Given the description of an element on the screen output the (x, y) to click on. 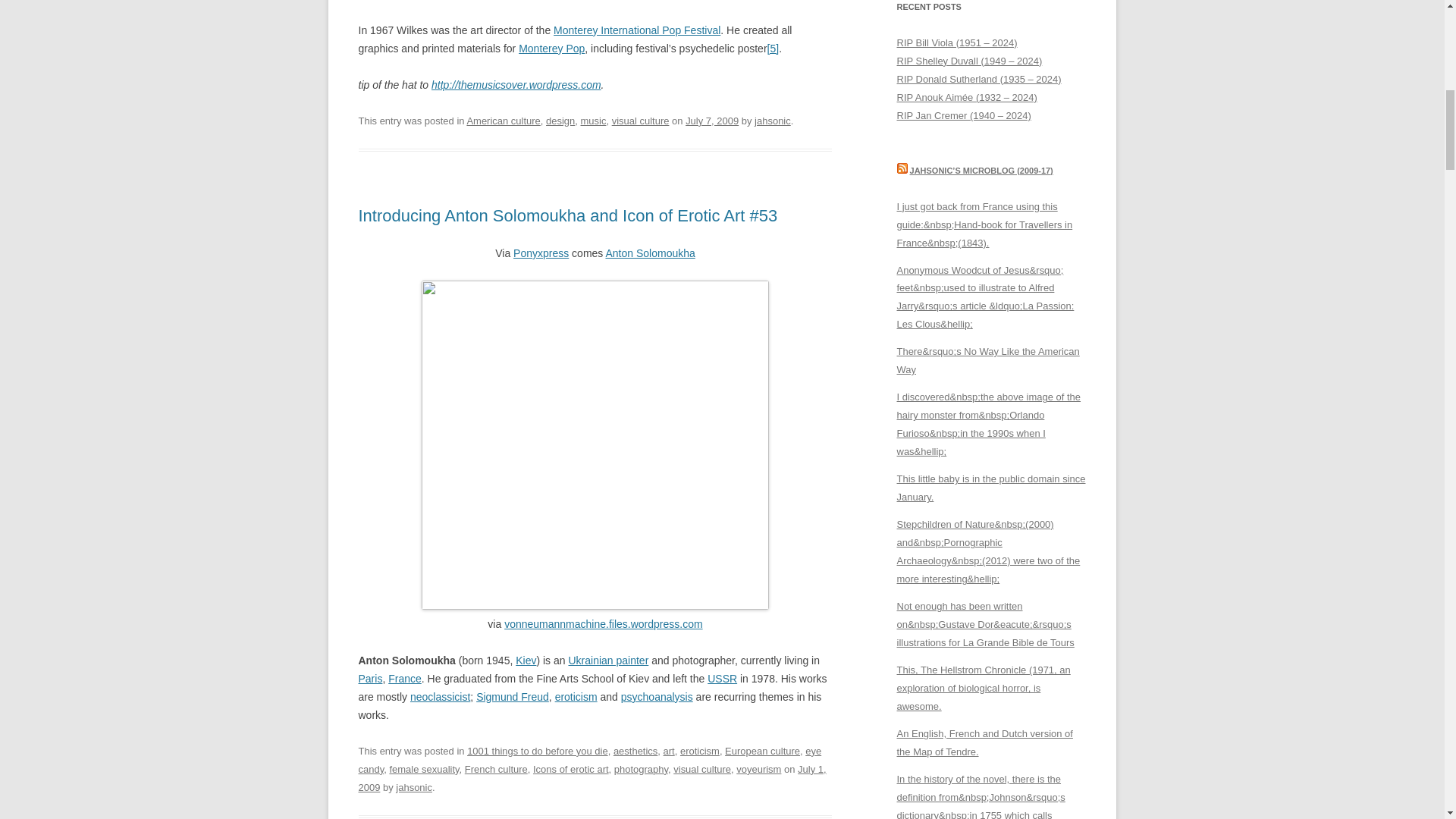
Anton Solomoukha (649, 253)
American culture (502, 120)
Monterey Pop (551, 48)
Ponyxpress (541, 253)
July 7, 2009 (711, 120)
jahsonic (772, 120)
music (593, 120)
Monterey International Pop Festival (636, 30)
visual culture (640, 120)
design (560, 120)
